Given the description of an element on the screen output the (x, y) to click on. 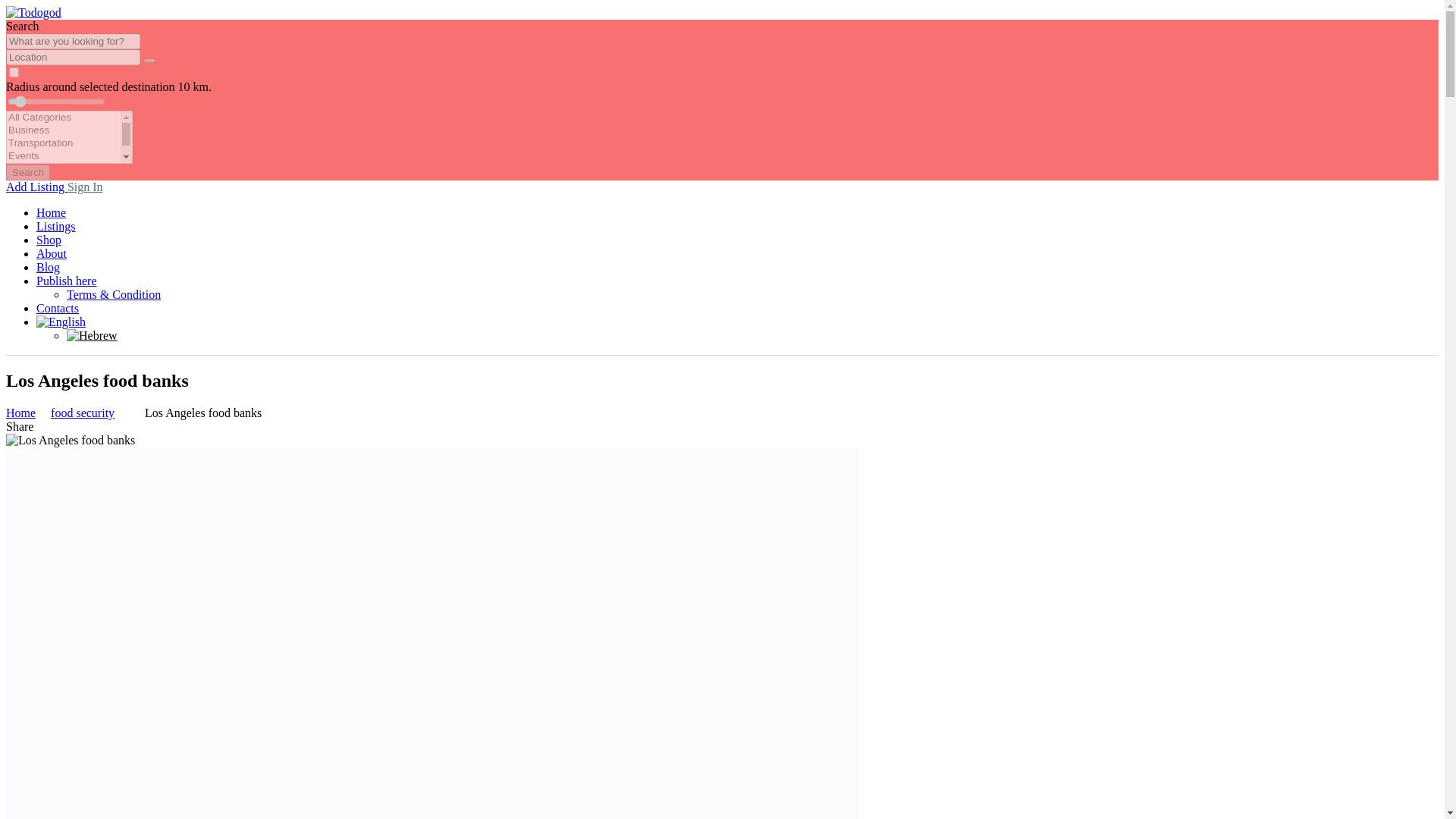
Blog (47, 267)
10 (55, 101)
Publish here (66, 280)
About (51, 253)
Contacts (57, 308)
Los Angeles food banks (202, 412)
food security (82, 412)
Listings (55, 226)
Add Listing (35, 186)
Shop (48, 239)
1 (13, 71)
Home (19, 412)
Sign In (84, 186)
Home (19, 412)
Search (27, 172)
